Given the description of an element on the screen output the (x, y) to click on. 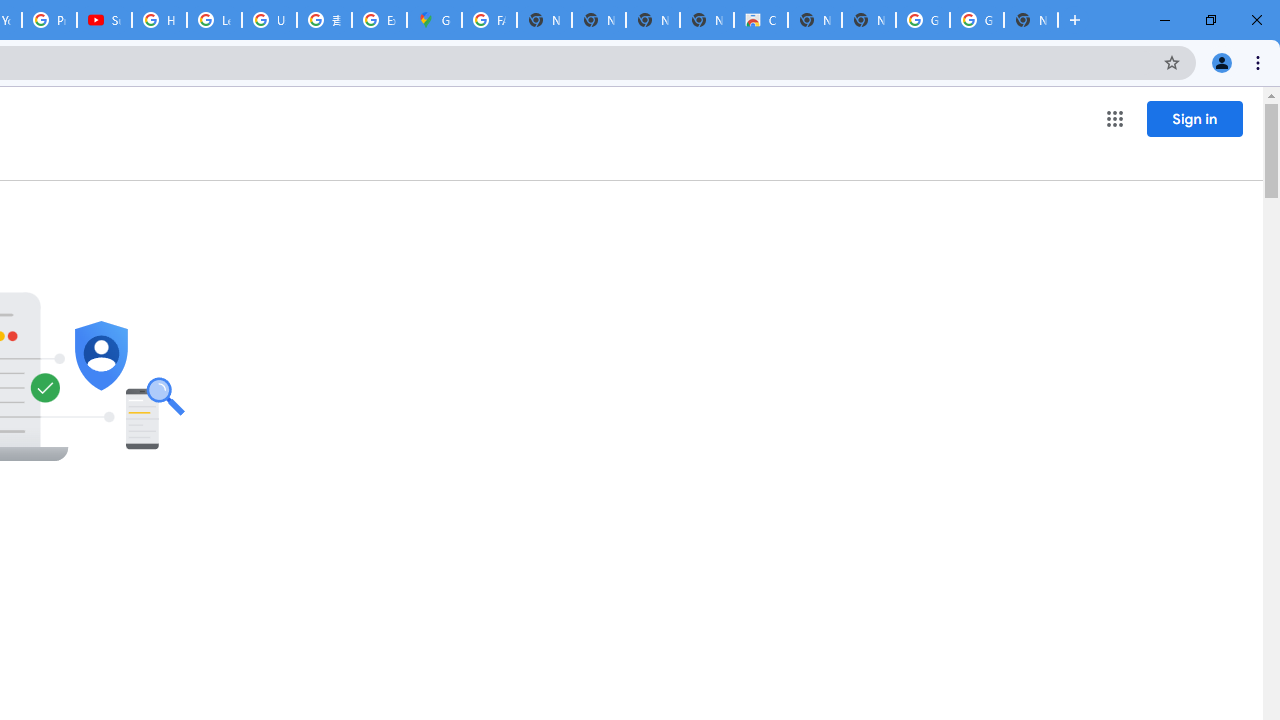
Subscriptions - YouTube (103, 20)
Chrome Web Store (760, 20)
Google Images (922, 20)
Google Images (976, 20)
